Given the description of an element on the screen output the (x, y) to click on. 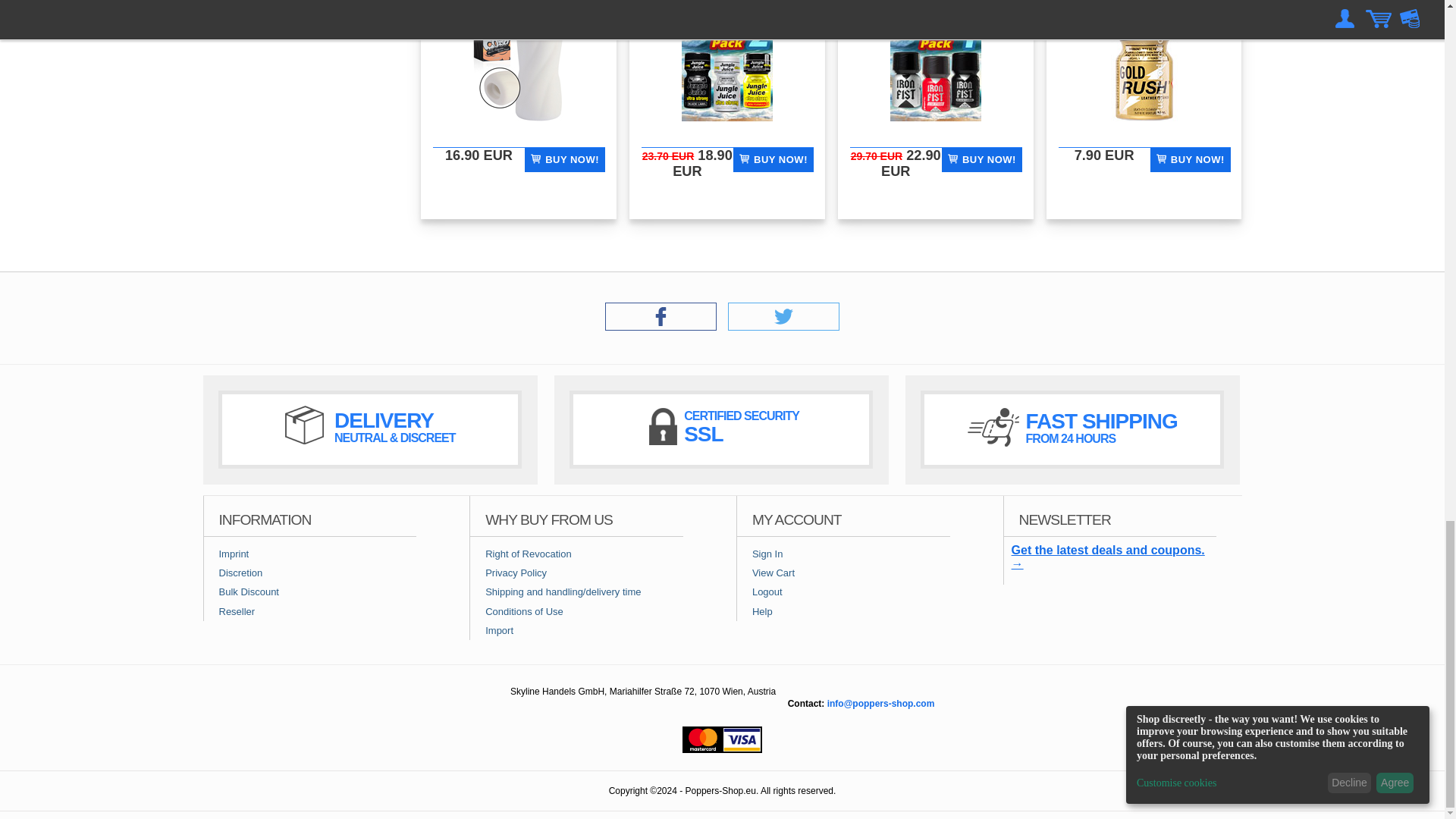
Twitter (784, 326)
Facebook (660, 326)
credit card (721, 739)
